Given the description of an element on the screen output the (x, y) to click on. 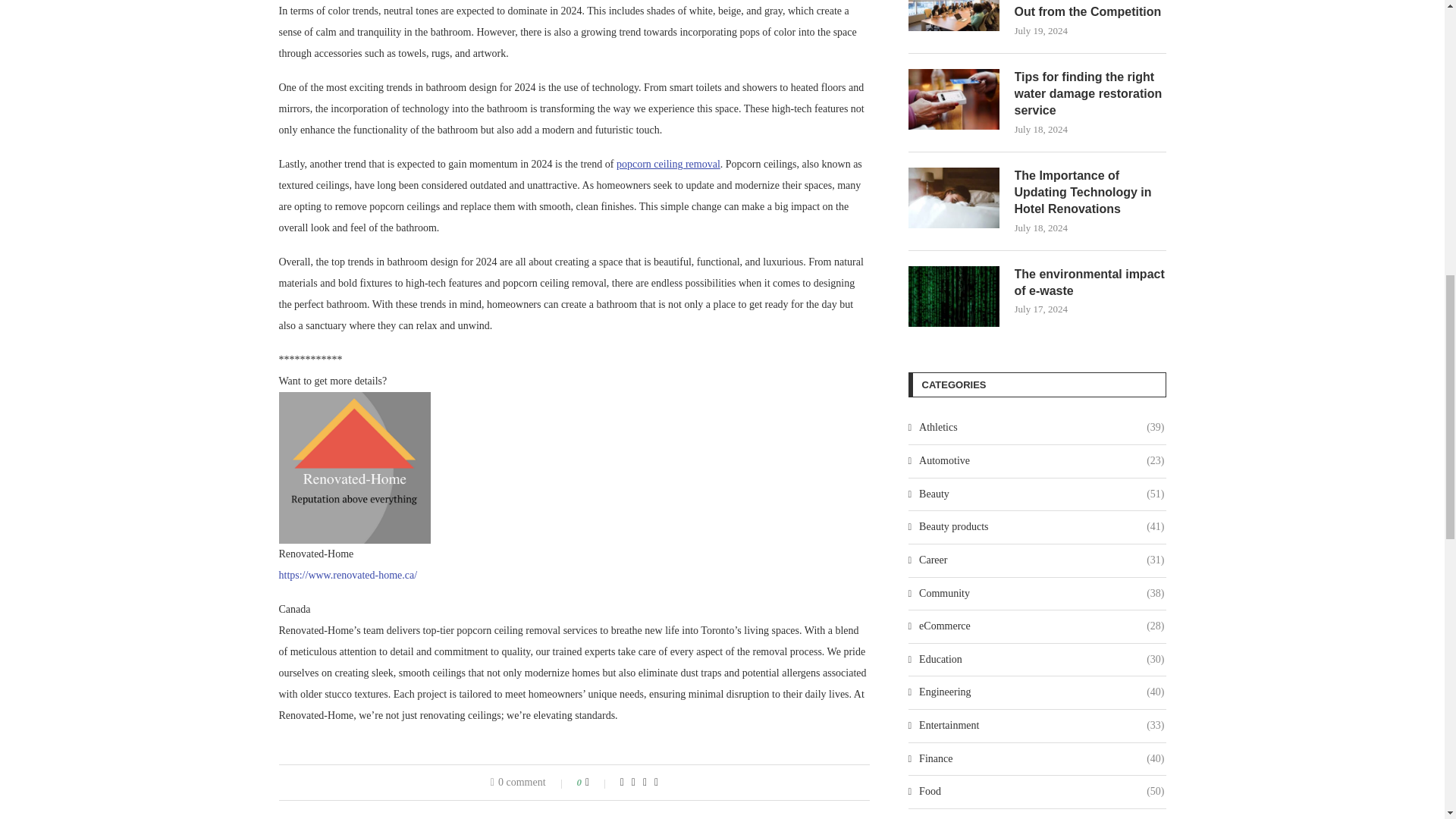
Tips for finding the right water damage restoration service (953, 98)
Like (597, 782)
